Given the description of an element on the screen output the (x, y) to click on. 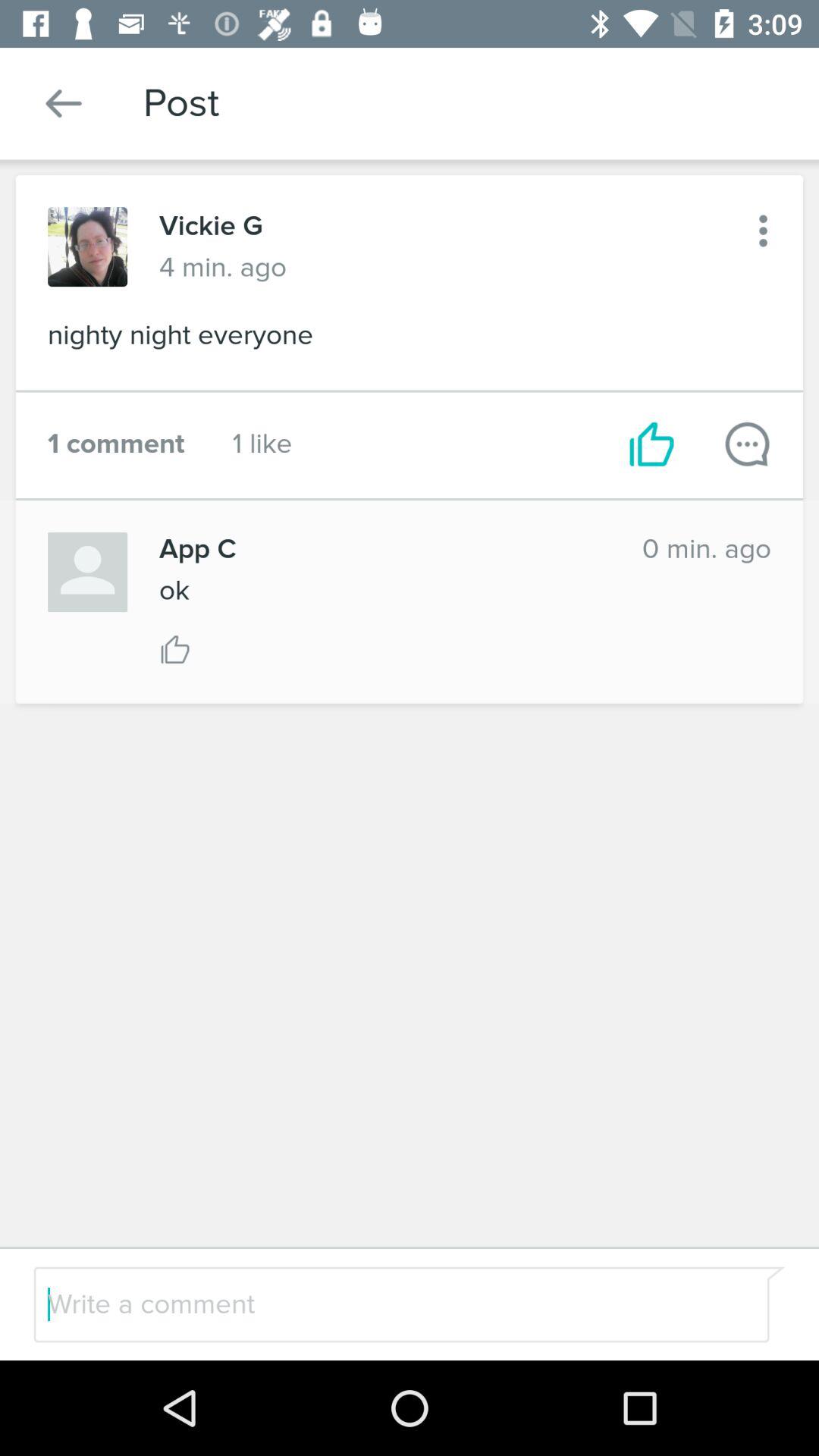
turn on the item next to 1 like item (651, 444)
